Given the description of an element on the screen output the (x, y) to click on. 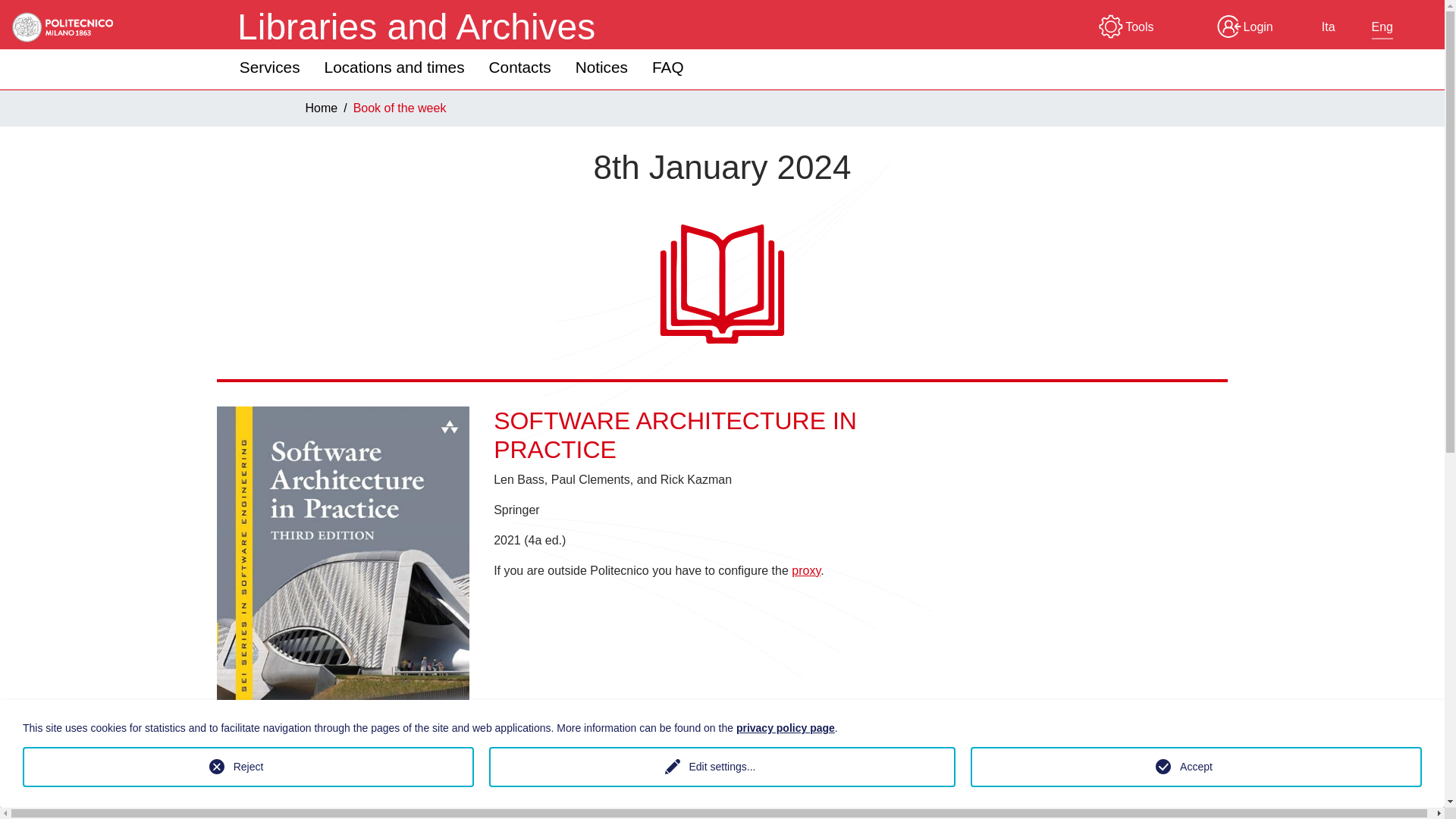
FAQ (667, 67)
Libraries and Archives (416, 27)
Contacts (520, 67)
Notices (601, 67)
Tools (1125, 27)
Locations and times (395, 67)
www.polimi.it (58, 26)
Services (270, 67)
Libraries and Archives (416, 27)
Services (270, 67)
Locations and times (395, 67)
